Given the description of an element on the screen output the (x, y) to click on. 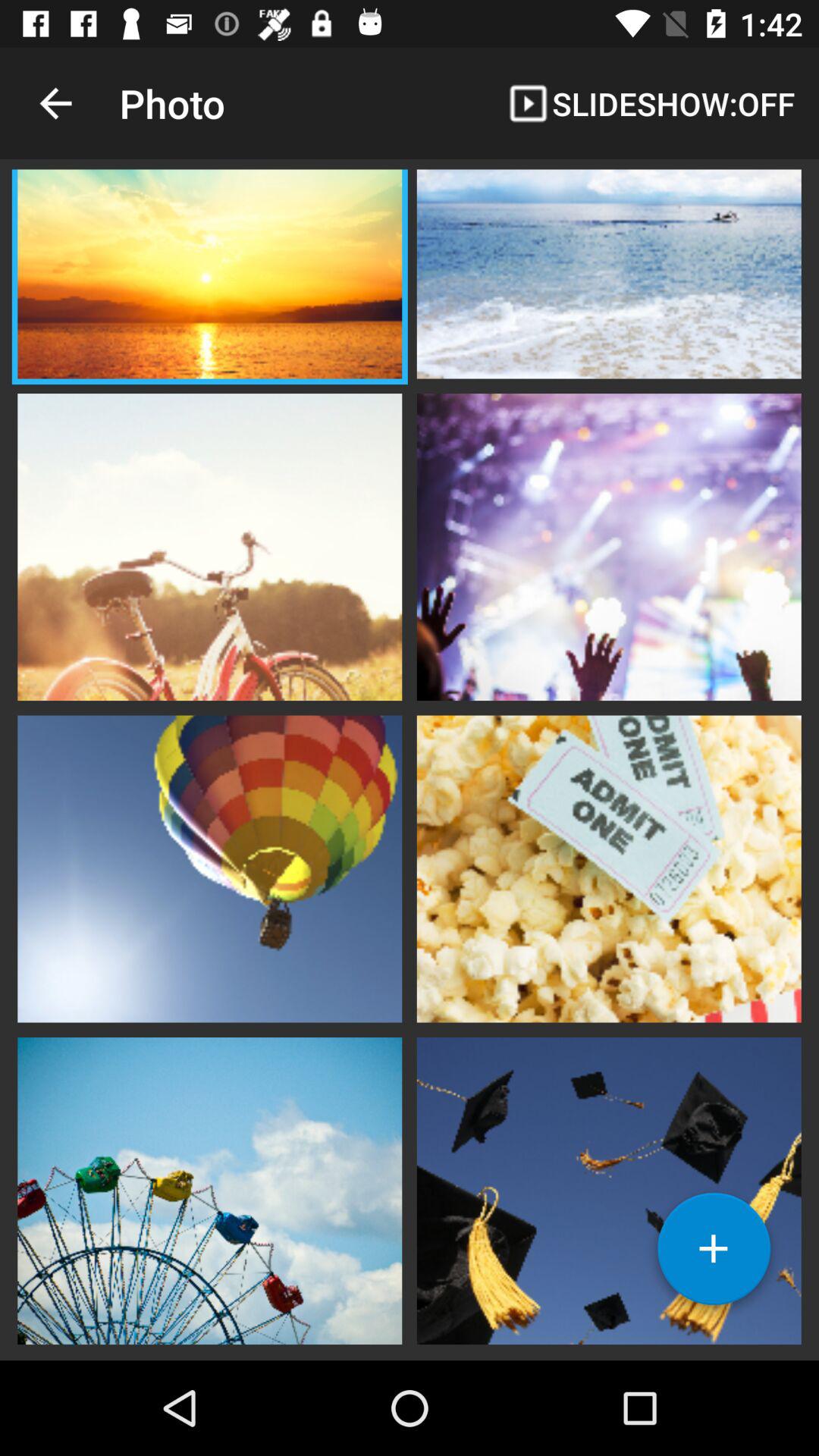
select picture (609, 275)
